Given the description of an element on the screen output the (x, y) to click on. 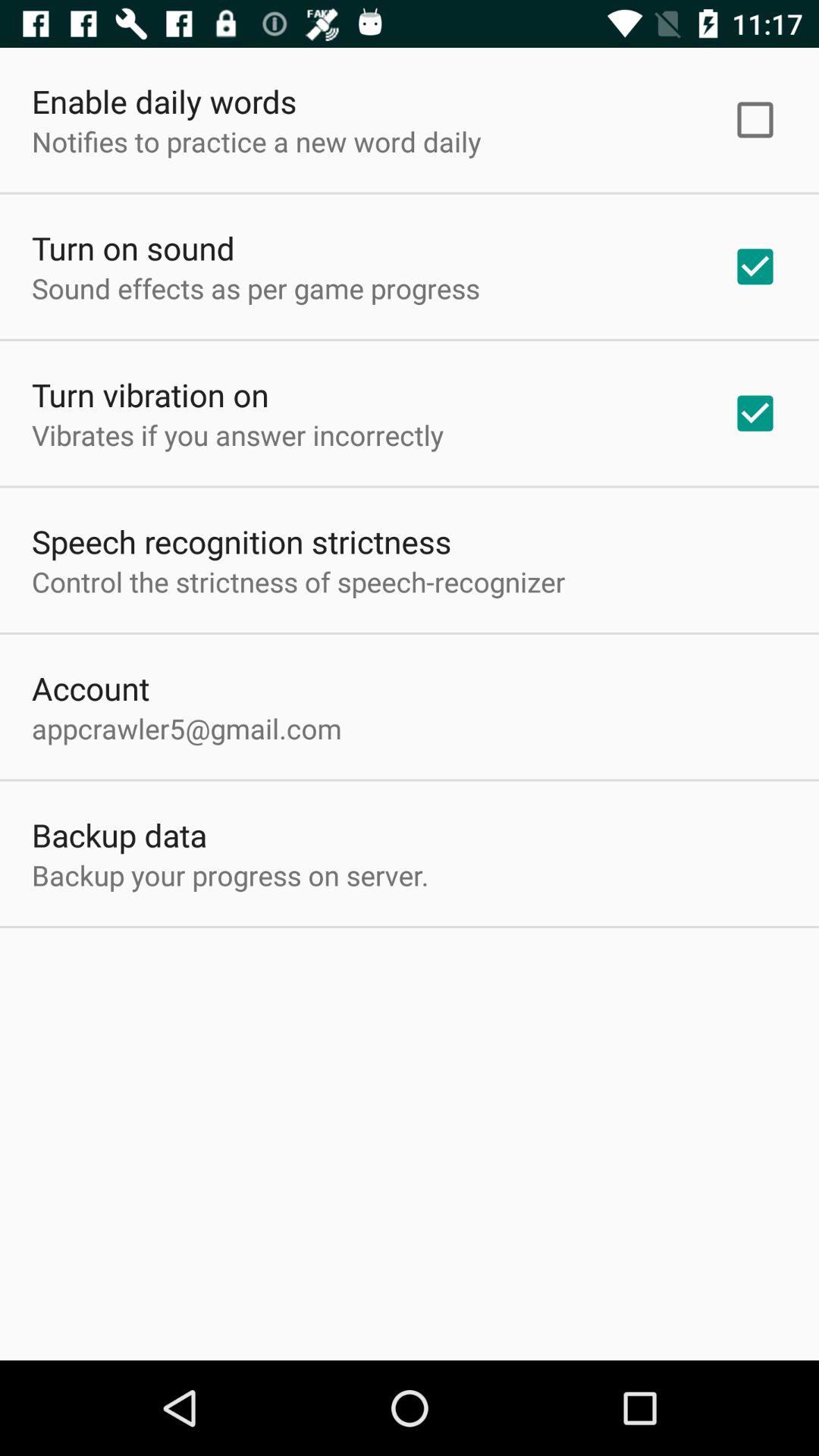
choose appcrawler5@gmail.com icon (186, 728)
